Given the description of an element on the screen output the (x, y) to click on. 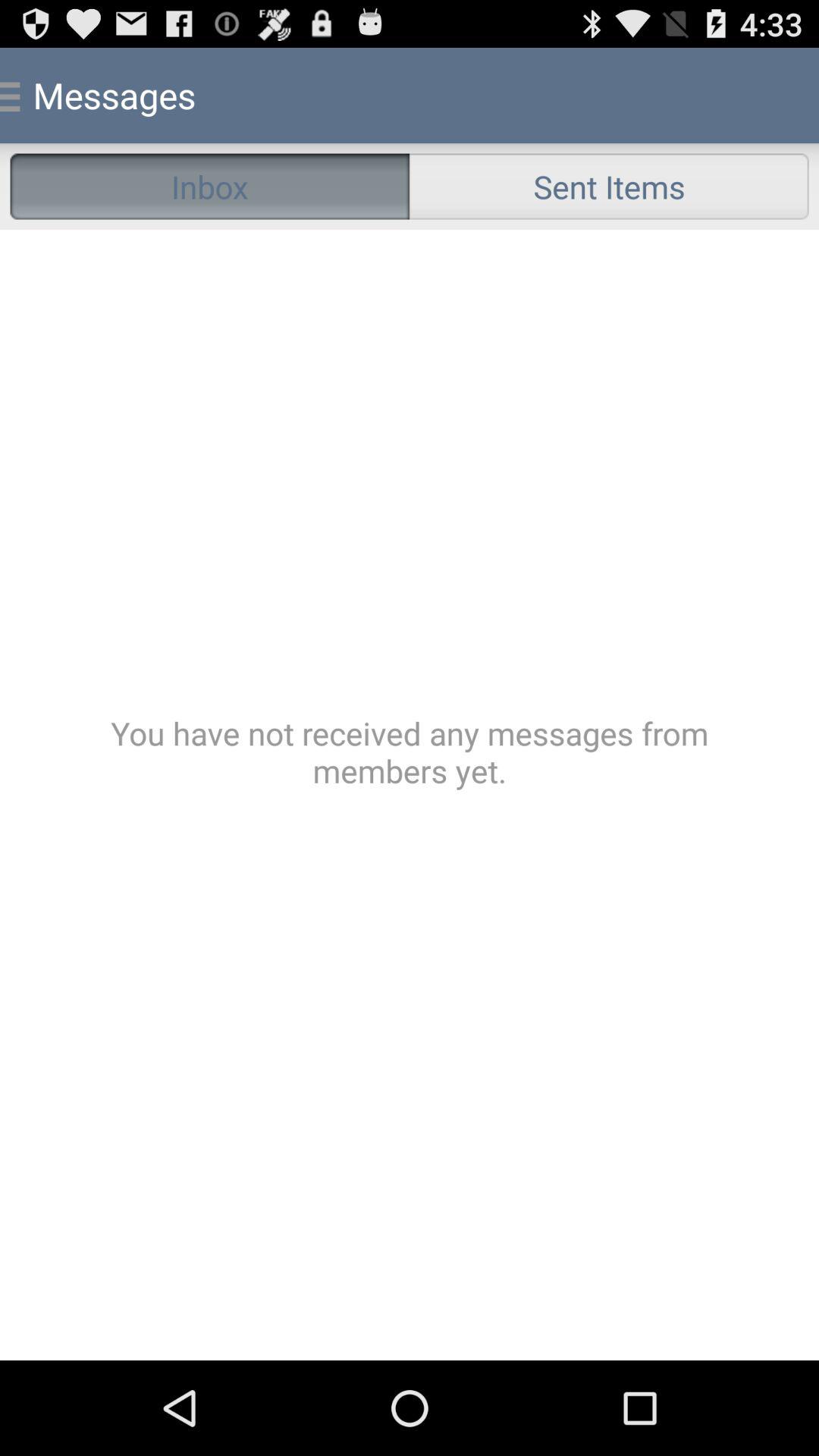
choose the sent items item (608, 186)
